Given the description of an element on the screen output the (x, y) to click on. 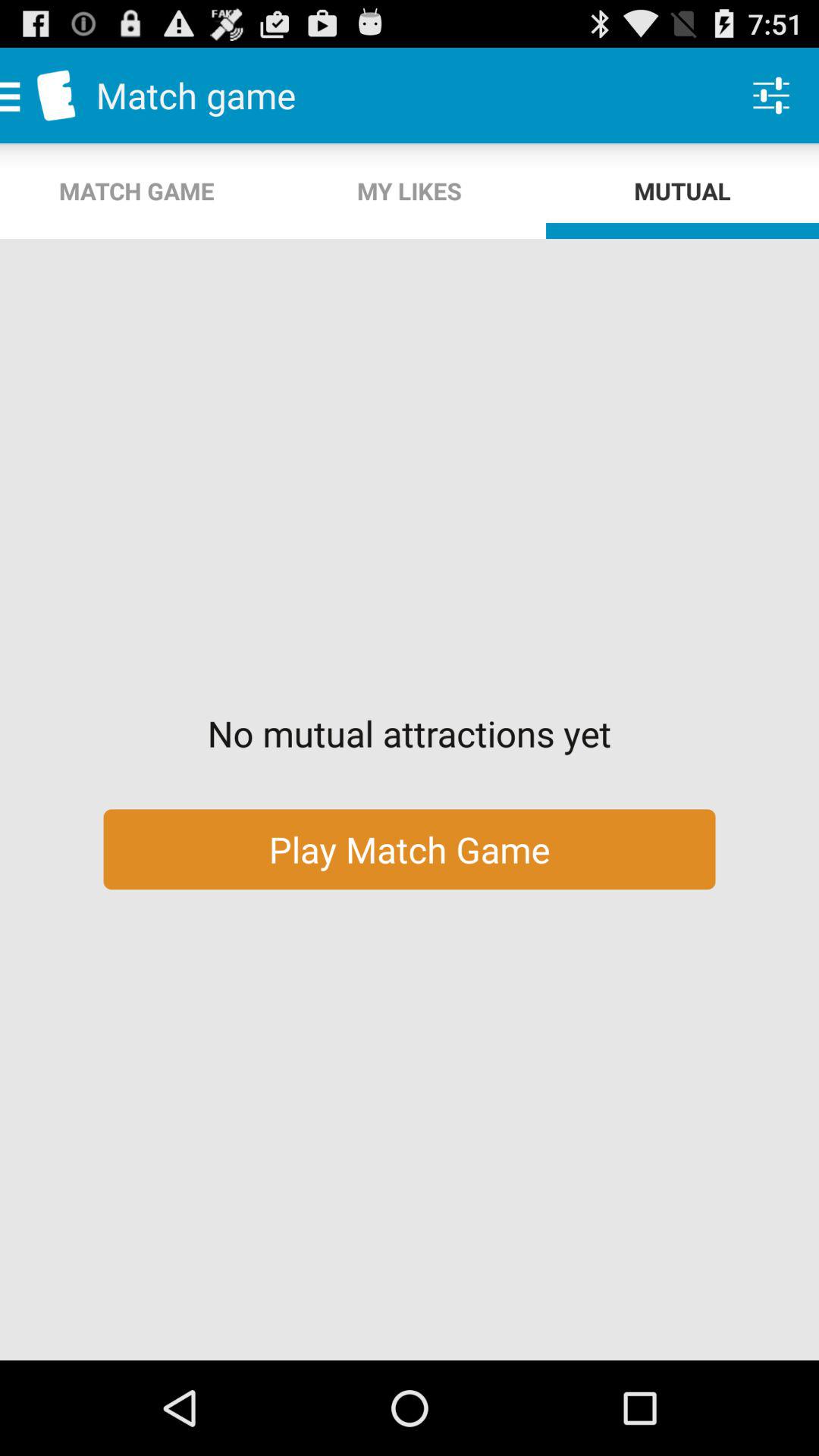
choose the app above mutual item (771, 95)
